Given the description of an element on the screen output the (x, y) to click on. 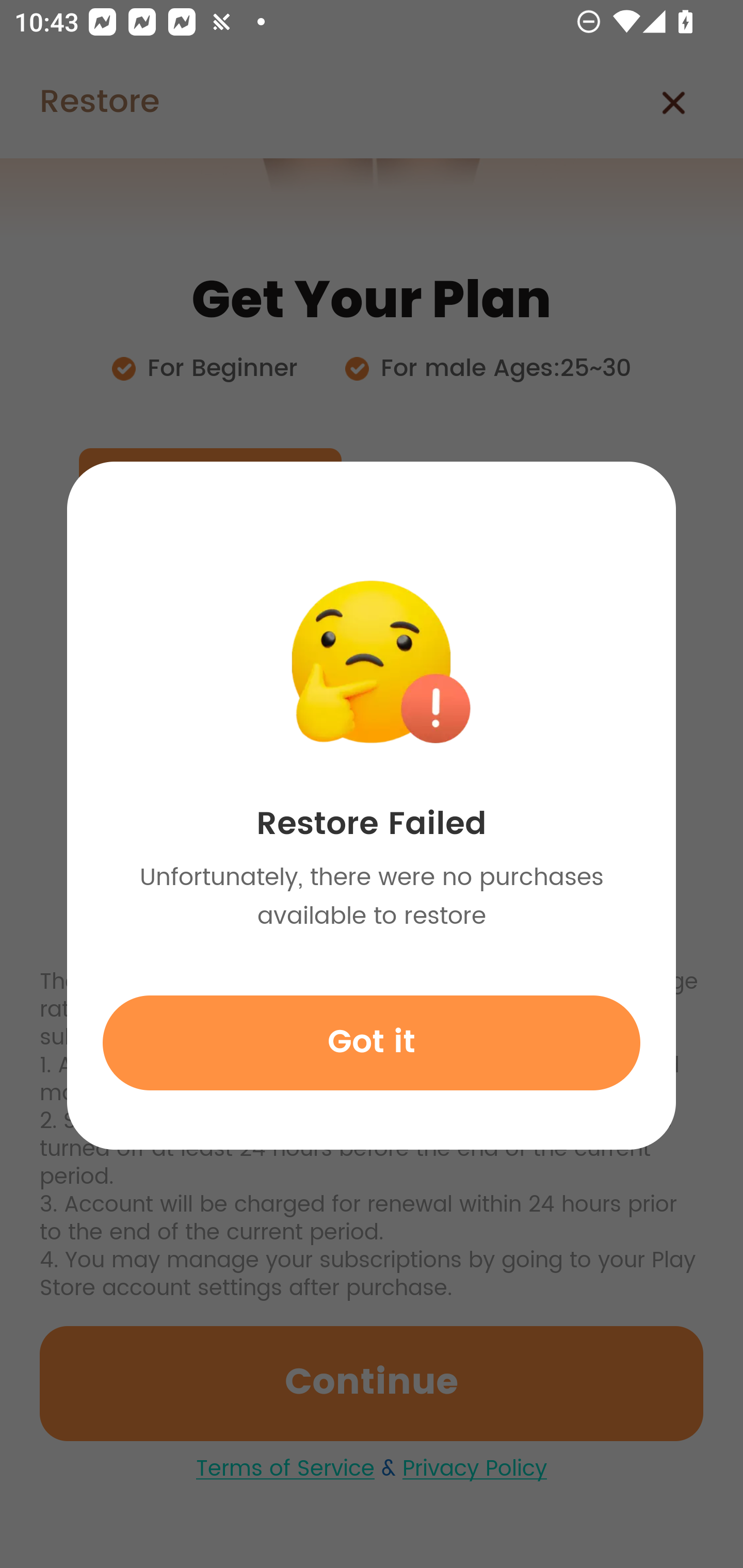
Got it (371, 1042)
